Given the description of an element on the screen output the (x, y) to click on. 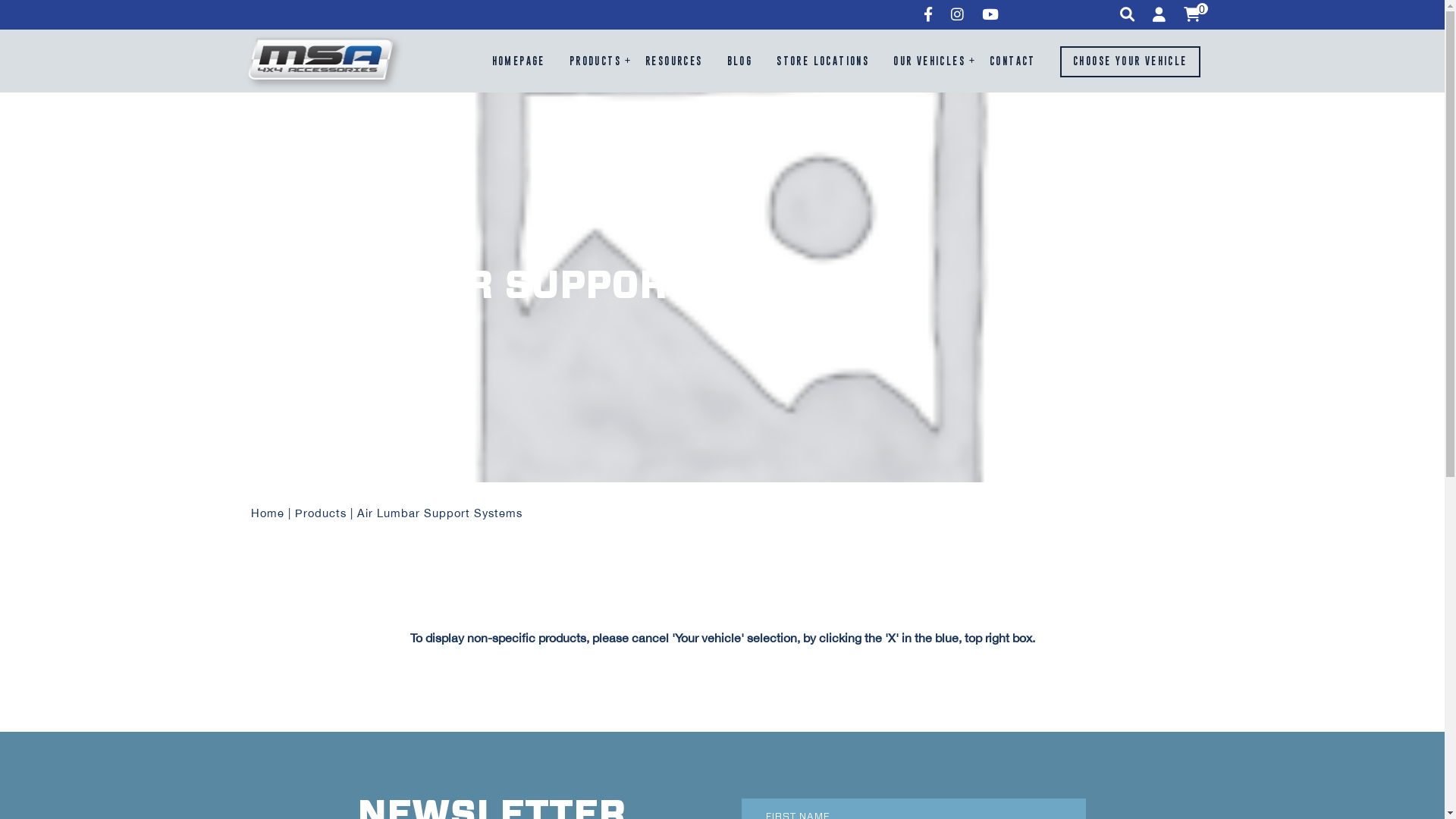
BLOG Element type: text (740, 61)
STORE LOCATIONS Element type: text (822, 61)
0 Element type: text (1191, 14)
RESOURCES Element type: text (673, 61)
Home Element type: text (266, 512)
OUR VEHICLES Element type: text (929, 61)
CHOOSE YOUR VEHICLE Element type: text (1130, 61)
Products Element type: text (319, 512)
HOMEPAGE Element type: text (518, 61)
PRODUCTS Element type: text (595, 61)
CONTACT Element type: text (1012, 61)
